Given the description of an element on the screen output the (x, y) to click on. 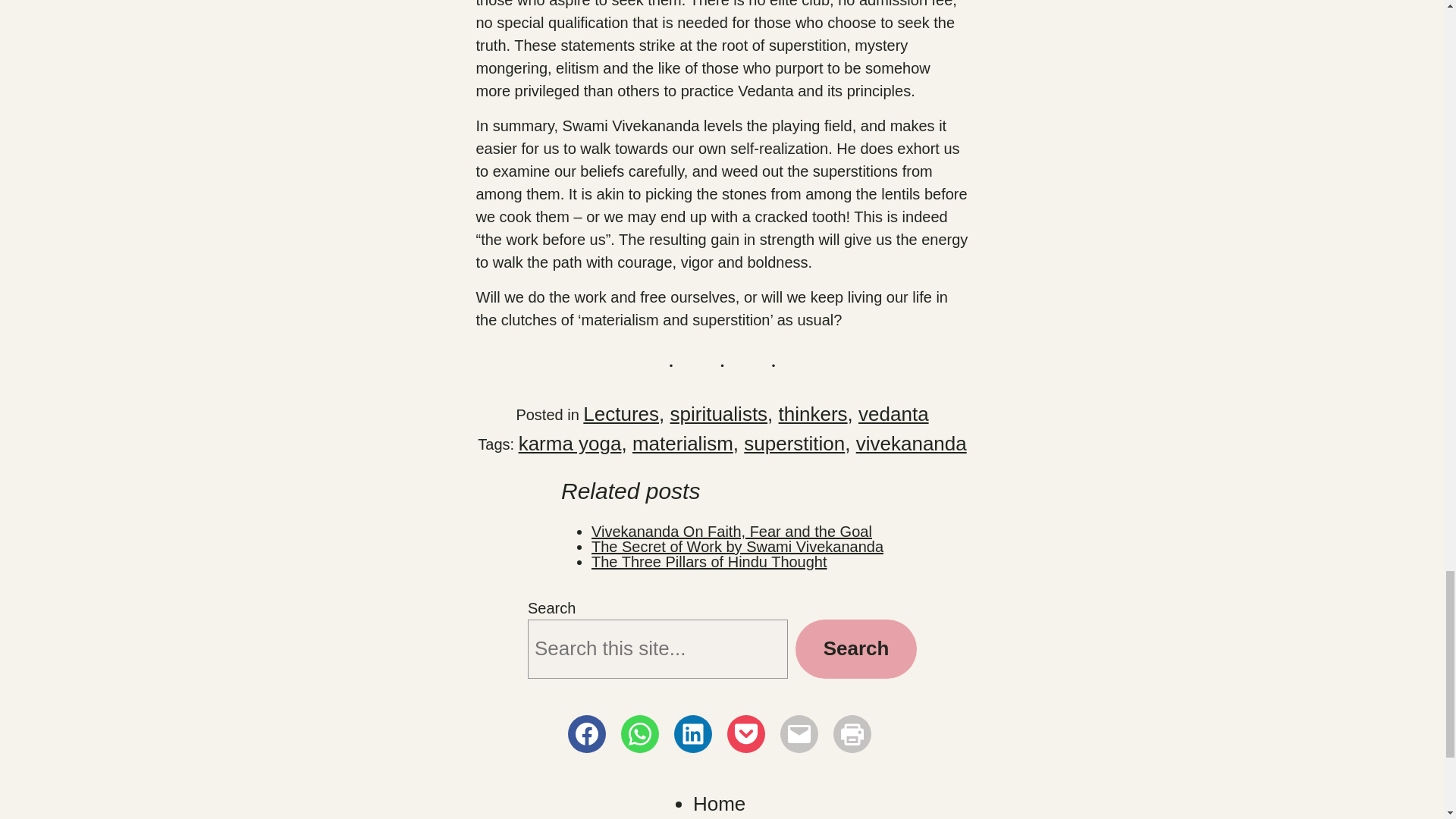
thinkers (812, 413)
superstition (794, 443)
The Three Pillars of Hindu Thought (709, 561)
Search (855, 648)
vivekananda (911, 443)
Lectures (621, 413)
spiritualists (718, 413)
vedanta (893, 413)
The Secret of Work by Swami Vivekananda (737, 546)
materialism (682, 443)
karma yoga (569, 443)
Home (719, 802)
Vivekananda On Faith, Fear and the Goal (731, 531)
